Given the description of an element on the screen output the (x, y) to click on. 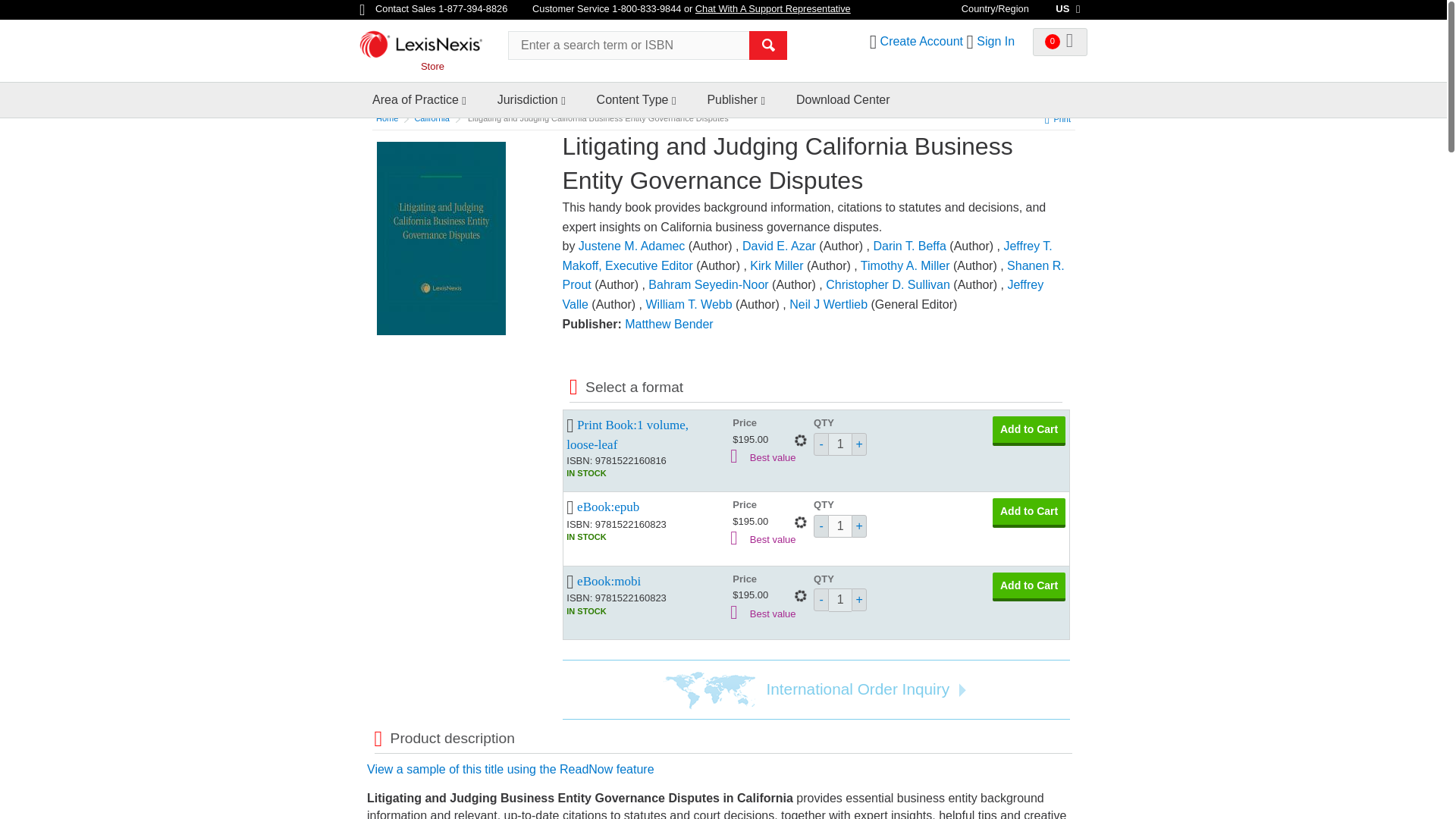
0 (1059, 41)
Area of Practice (415, 85)
Sign In (995, 41)
Contact Sales 1-877-394-8826 (435, 8)
Search (768, 45)
Create Account (921, 41)
Search (768, 45)
Lexis Nexis Store (478, 42)
1 (839, 599)
